Given the description of an element on the screen output the (x, y) to click on. 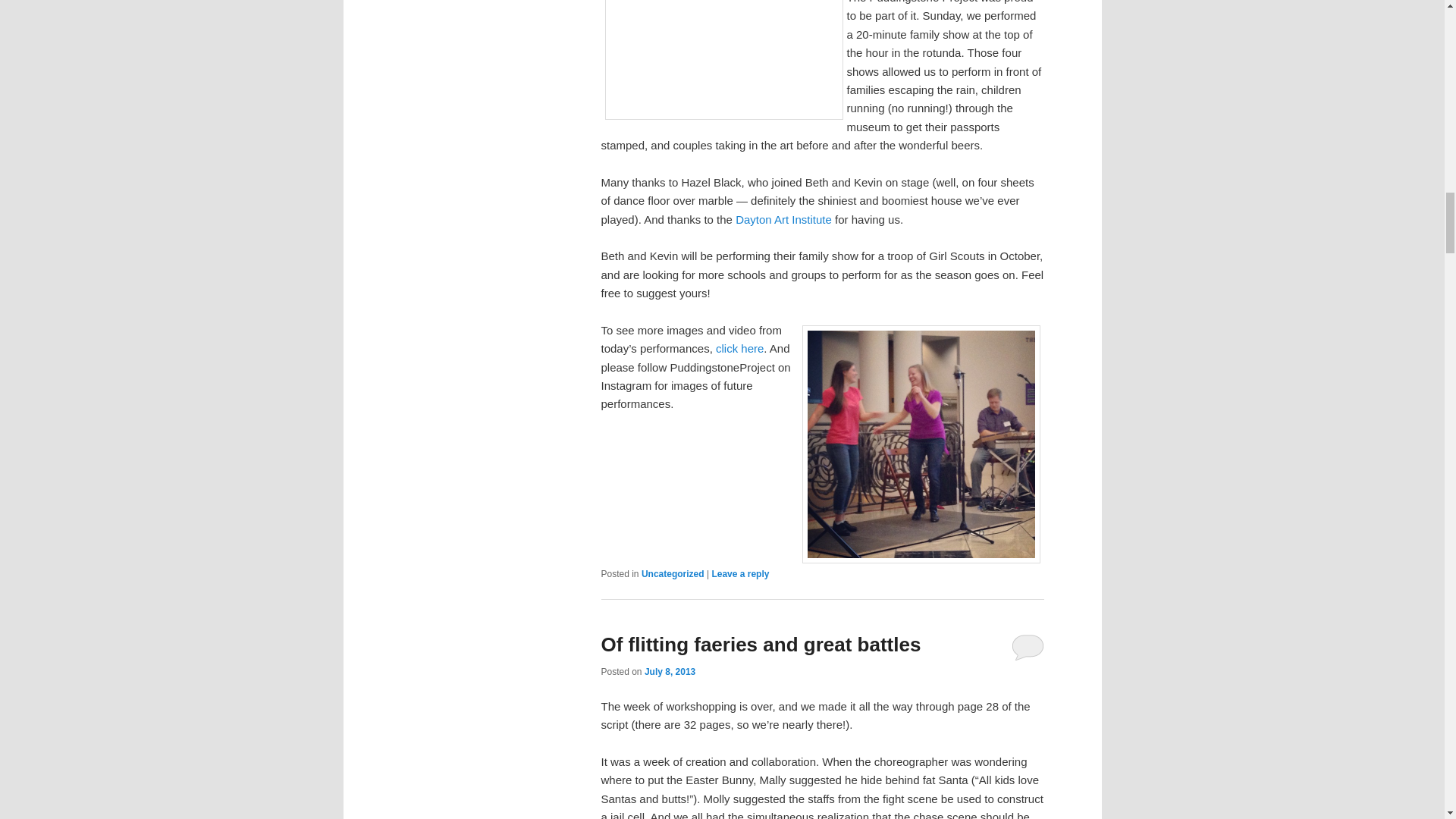
Of flitting faeries and great battles (759, 644)
click here (739, 348)
July 8, 2013 (670, 671)
Leave a reply (739, 573)
Uncategorized (673, 573)
Dayton Art Institute (783, 219)
PuddingstoneDAI1 (724, 59)
